Given the description of an element on the screen output the (x, y) to click on. 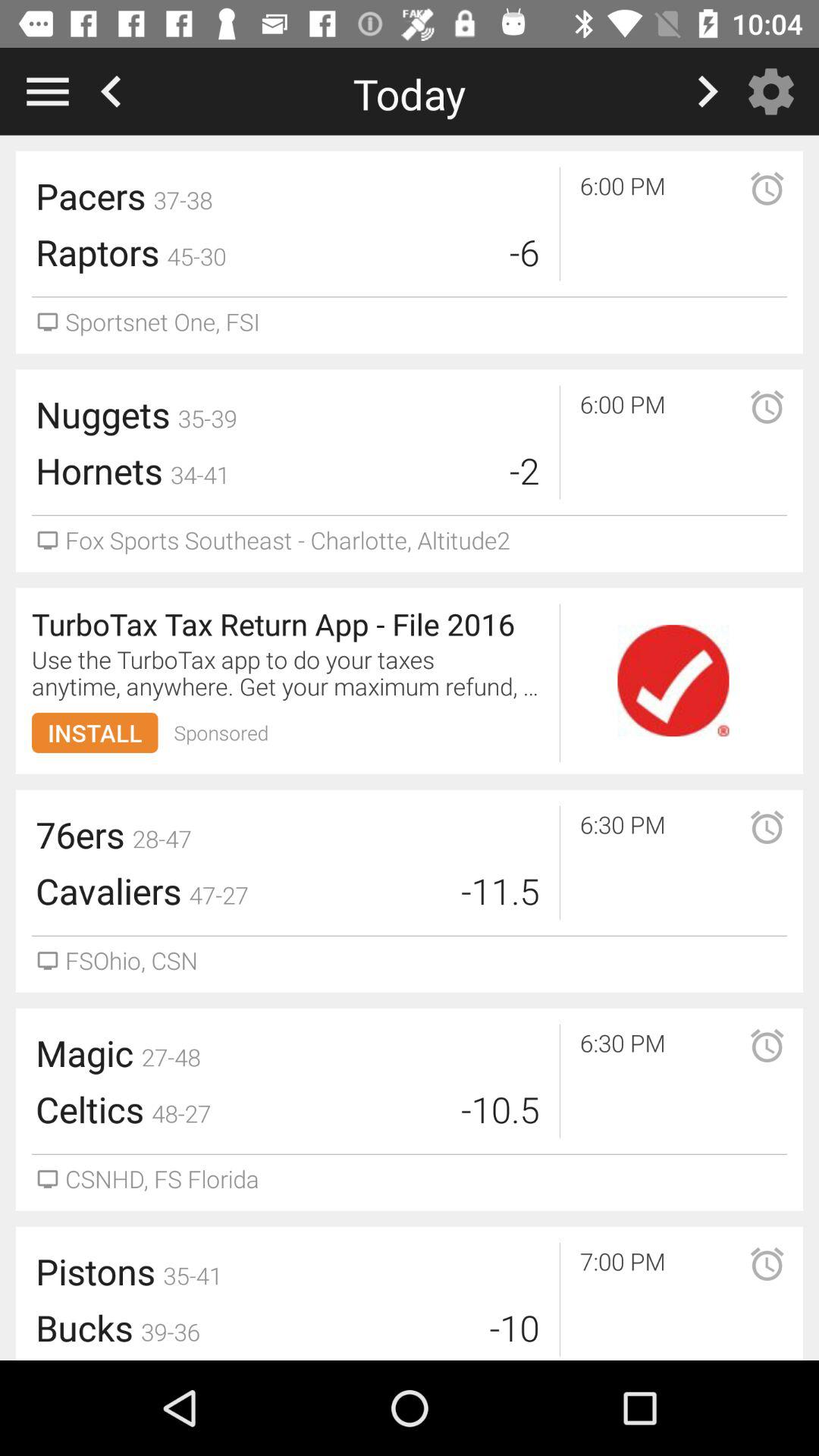
select item below the use the turbotax item (221, 732)
